Given the description of an element on the screen output the (x, y) to click on. 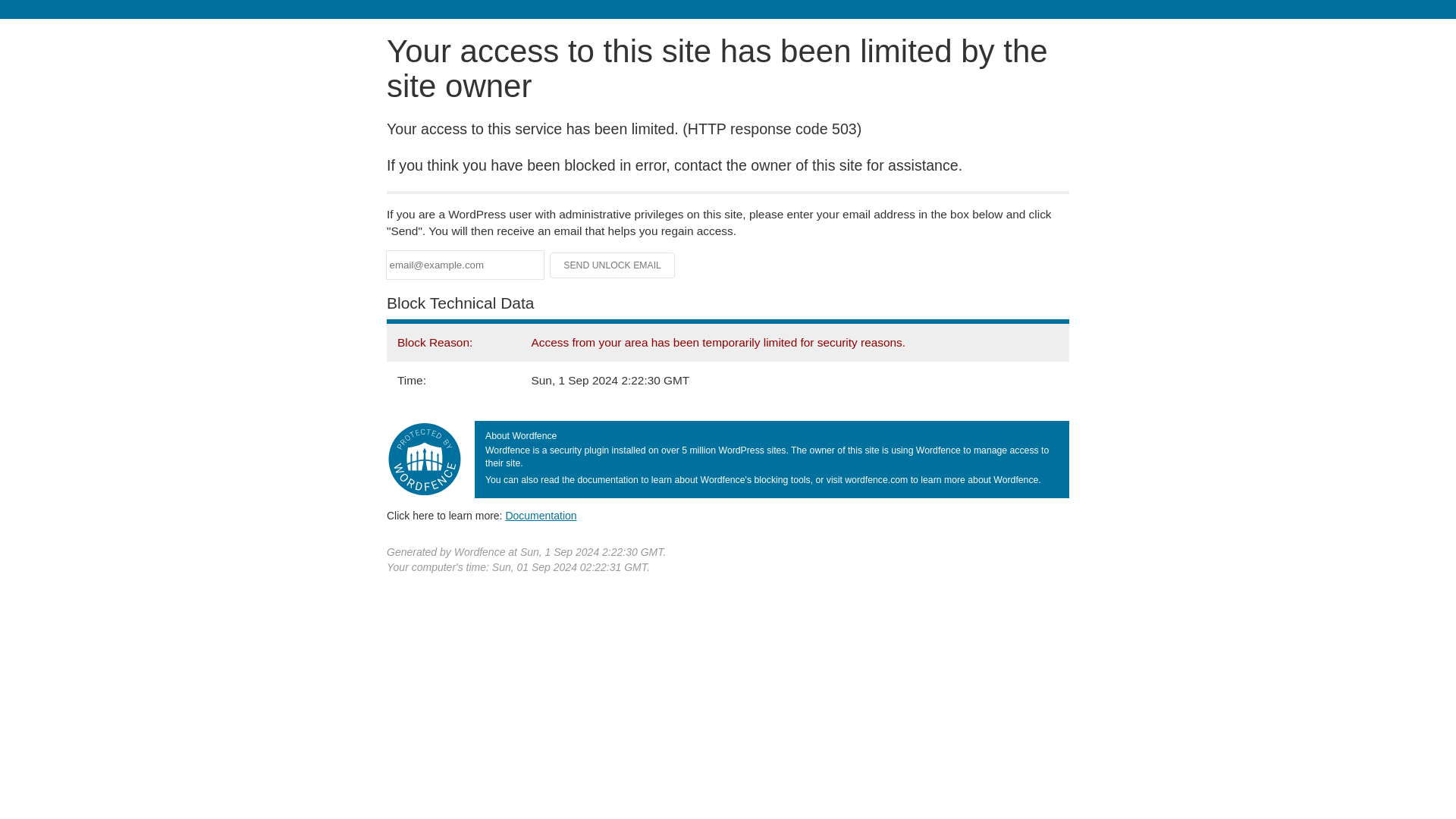
Send Unlock Email (612, 265)
Send Unlock Email (612, 265)
Documentation (540, 515)
